Given the description of an element on the screen output the (x, y) to click on. 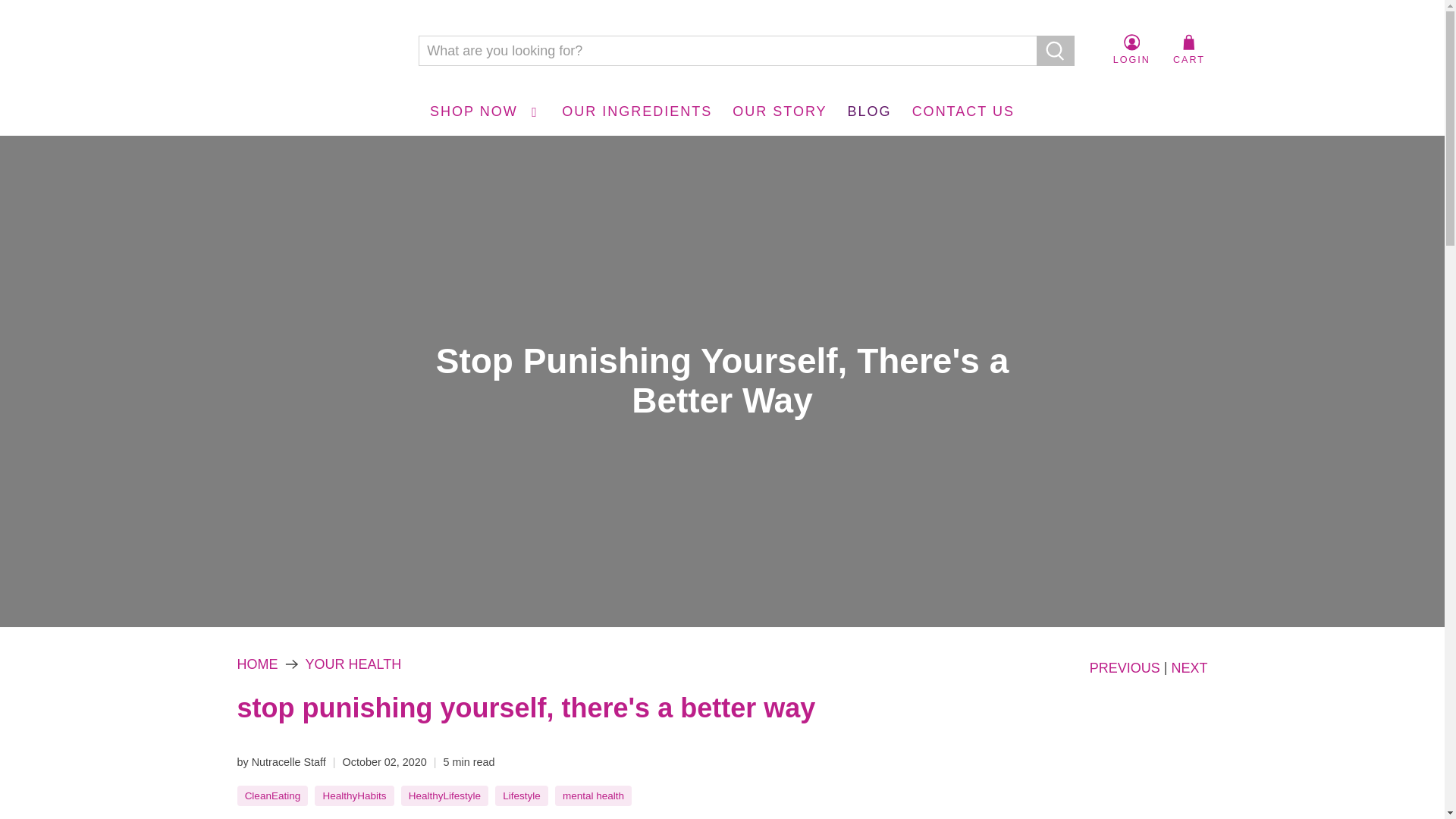
by Nutracelle Staff (279, 761)
Your Health tagged HealthyHabits (353, 795)
Your Health tagged Lifestyle (521, 795)
Your Health tagged HealthyLifestyle (444, 795)
PREVIOUS (1124, 667)
Nutracelle (315, 51)
Next (1188, 667)
CART (1189, 50)
OUR STORY (779, 111)
OUR INGREDIENTS (636, 111)
SHOP NOW (485, 111)
Your Health tagged mental health (593, 795)
Your Health tagged CleanEating (272, 795)
HOME (256, 663)
NEXT (1188, 667)
